Given the description of an element on the screen output the (x, y) to click on. 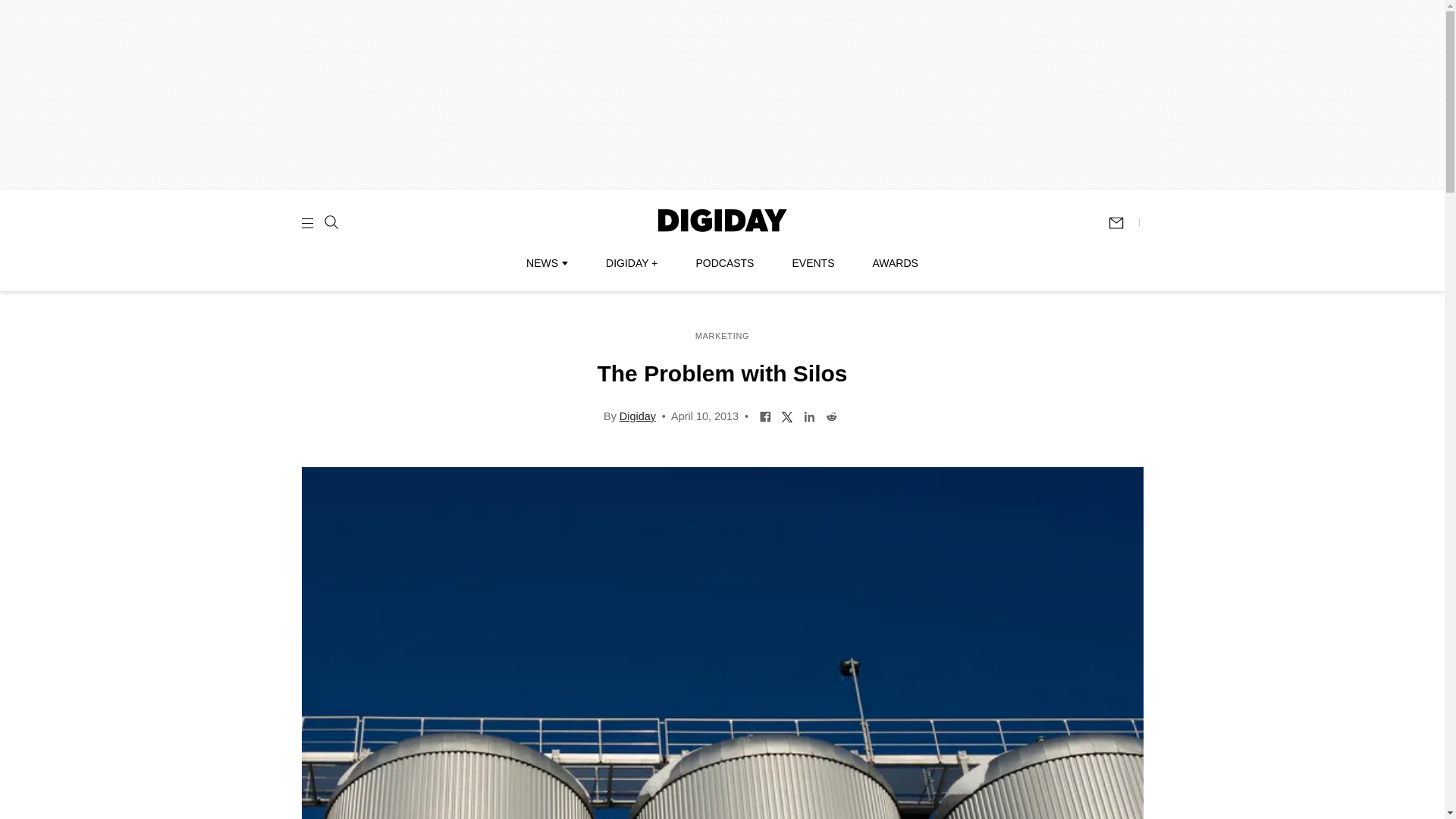
NEWS (546, 262)
Share on Reddit (831, 415)
Share on Facebook (764, 415)
PODCASTS (725, 262)
Share on LinkedIn (809, 415)
AWARDS (894, 262)
EVENTS (813, 262)
Share on Twitter (786, 415)
Subscribe (1123, 223)
